Given the description of an element on the screen output the (x, y) to click on. 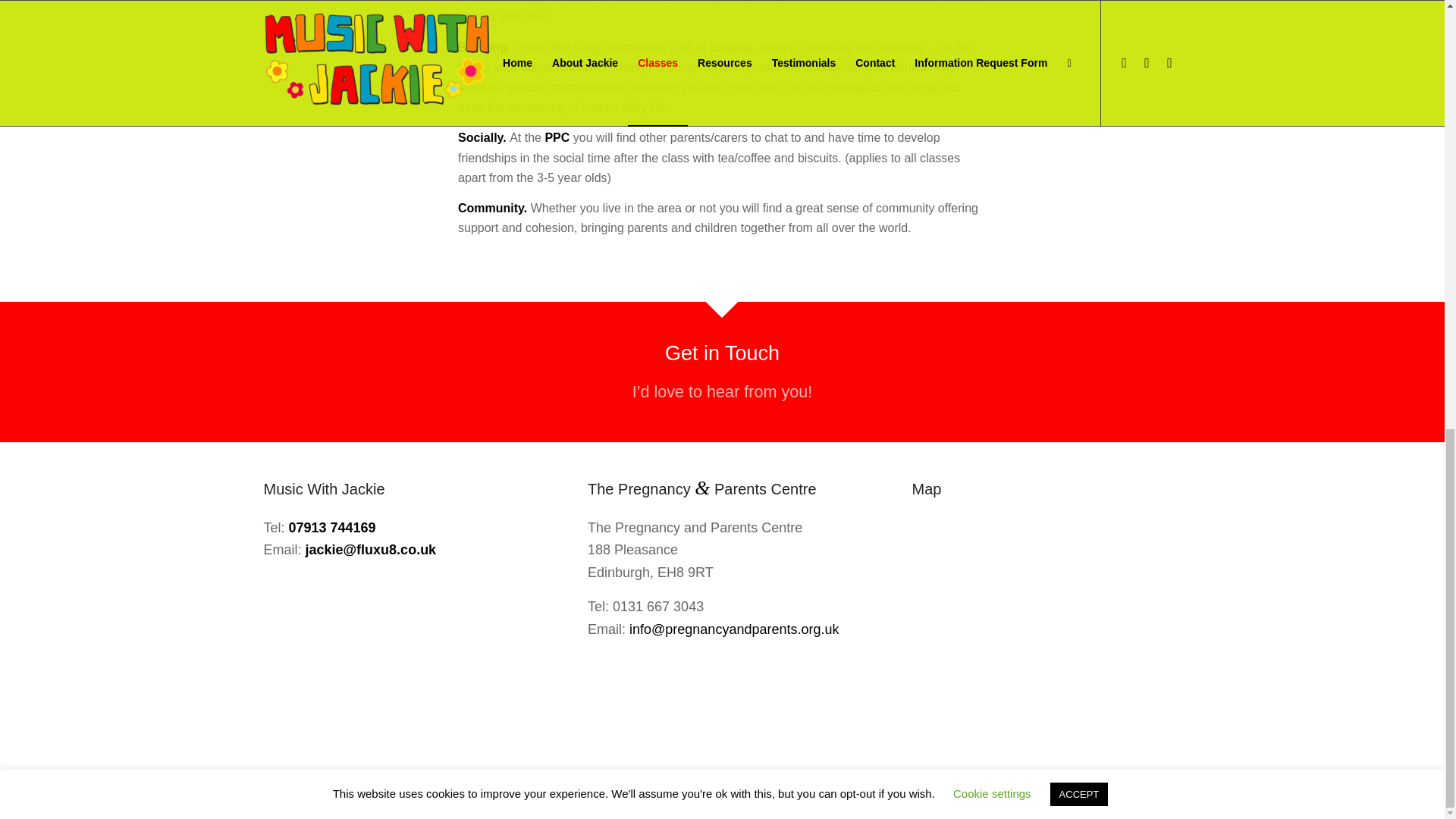
Mail (1169, 792)
Facebook (1124, 792)
Youtube (1146, 792)
